Given the description of an element on the screen output the (x, y) to click on. 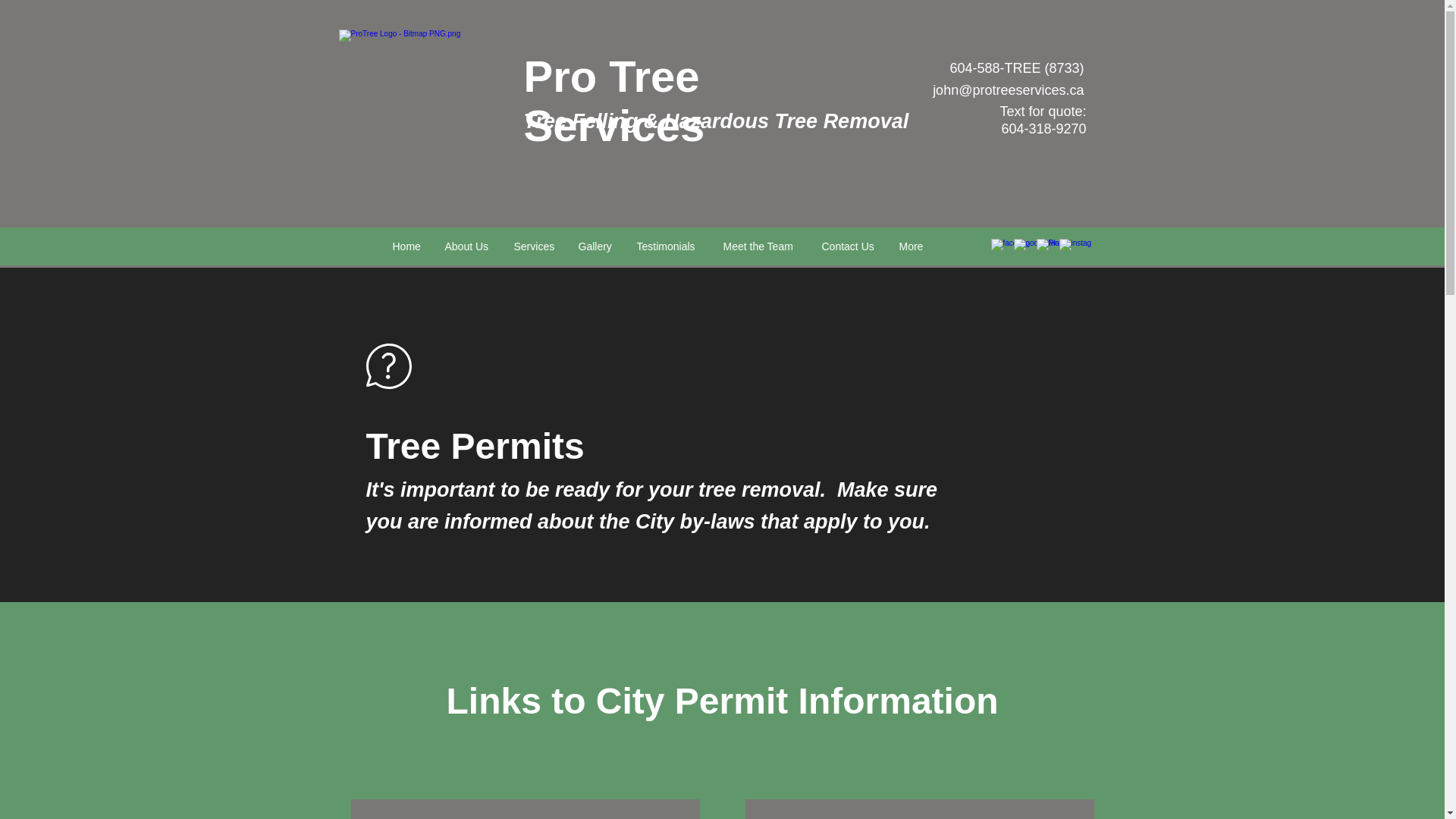
Meet the Team (760, 246)
Contact Us (847, 246)
BURNABY (919, 814)
SURREY (526, 814)
Testimonials (667, 246)
Gallery (596, 246)
About Us (467, 246)
Services (534, 246)
Home (406, 246)
